Given the description of an element on the screen output the (x, y) to click on. 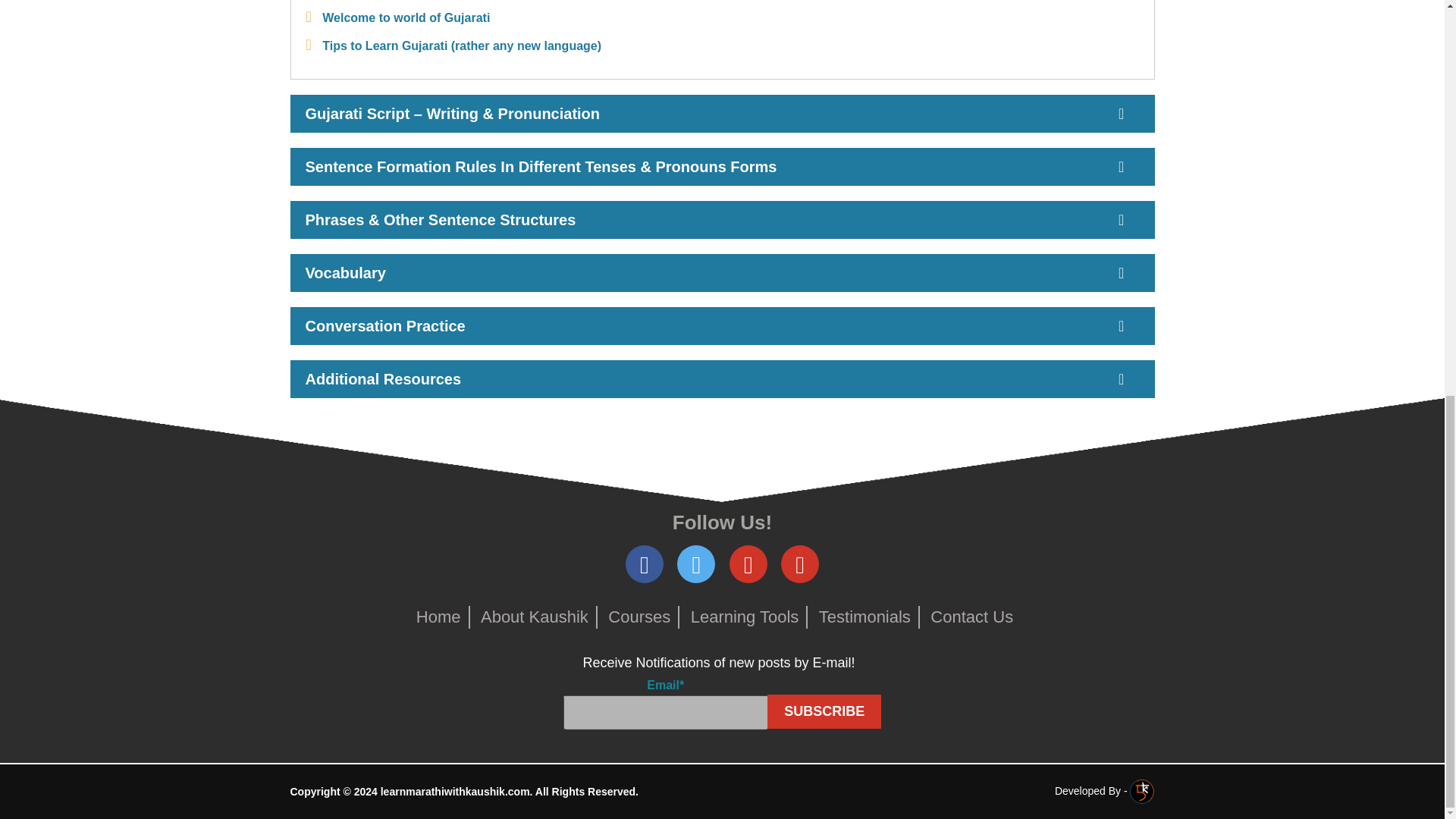
Welcome to world of Gujarati (405, 17)
Subscribe (823, 711)
